Given the description of an element on the screen output the (x, y) to click on. 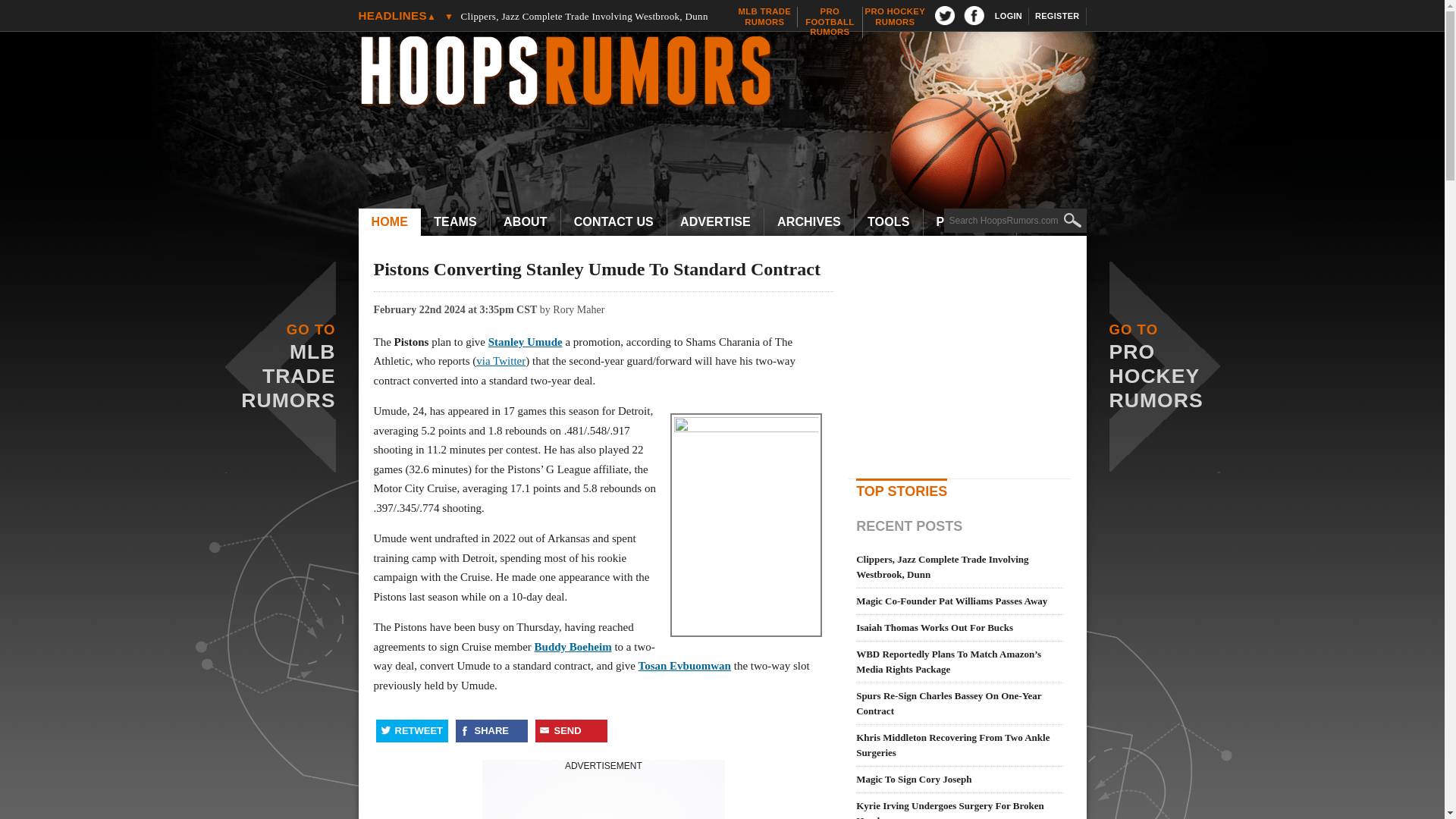
Search for: (1014, 220)
3rd party ad content (603, 796)
Hoops Rumors (729, 72)
teams (455, 221)
LOGIN (1008, 16)
HOME (829, 21)
Kyrie Irving Undergoes Surgery For Broken Hand (895, 16)
TEAMS (389, 221)
REGISTER (764, 16)
